Given the description of an element on the screen output the (x, y) to click on. 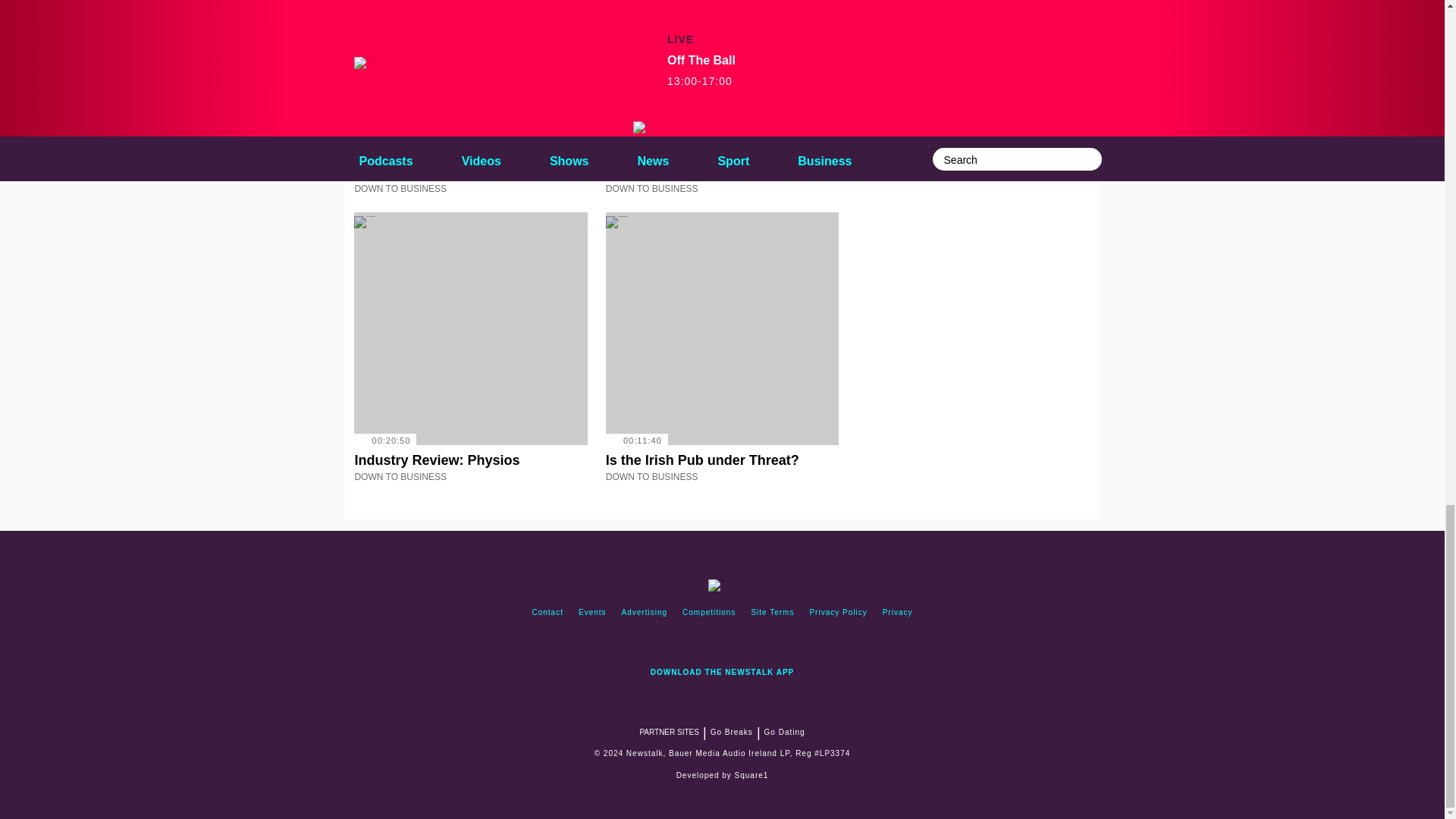
Privacy Policy (838, 612)
competitions (708, 612)
Privacy (897, 612)
advertising (644, 612)
contact (547, 612)
events (592, 612)
site terms (772, 612)
